Given the description of an element on the screen output the (x, y) to click on. 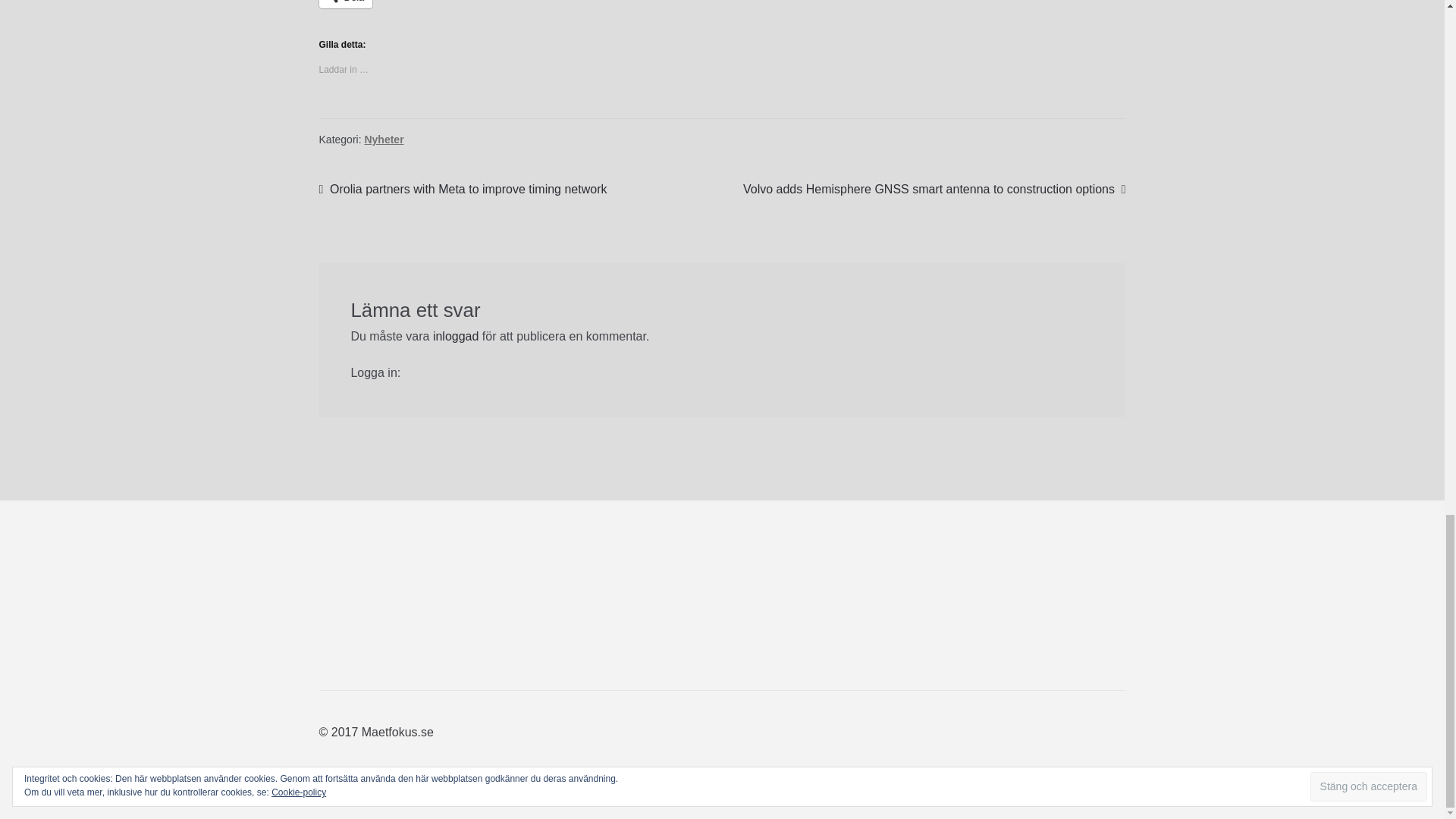
inloggad (455, 336)
Nyheter (383, 139)
Advertisement (594, 604)
Dela (345, 4)
